Given the description of an element on the screen output the (x, y) to click on. 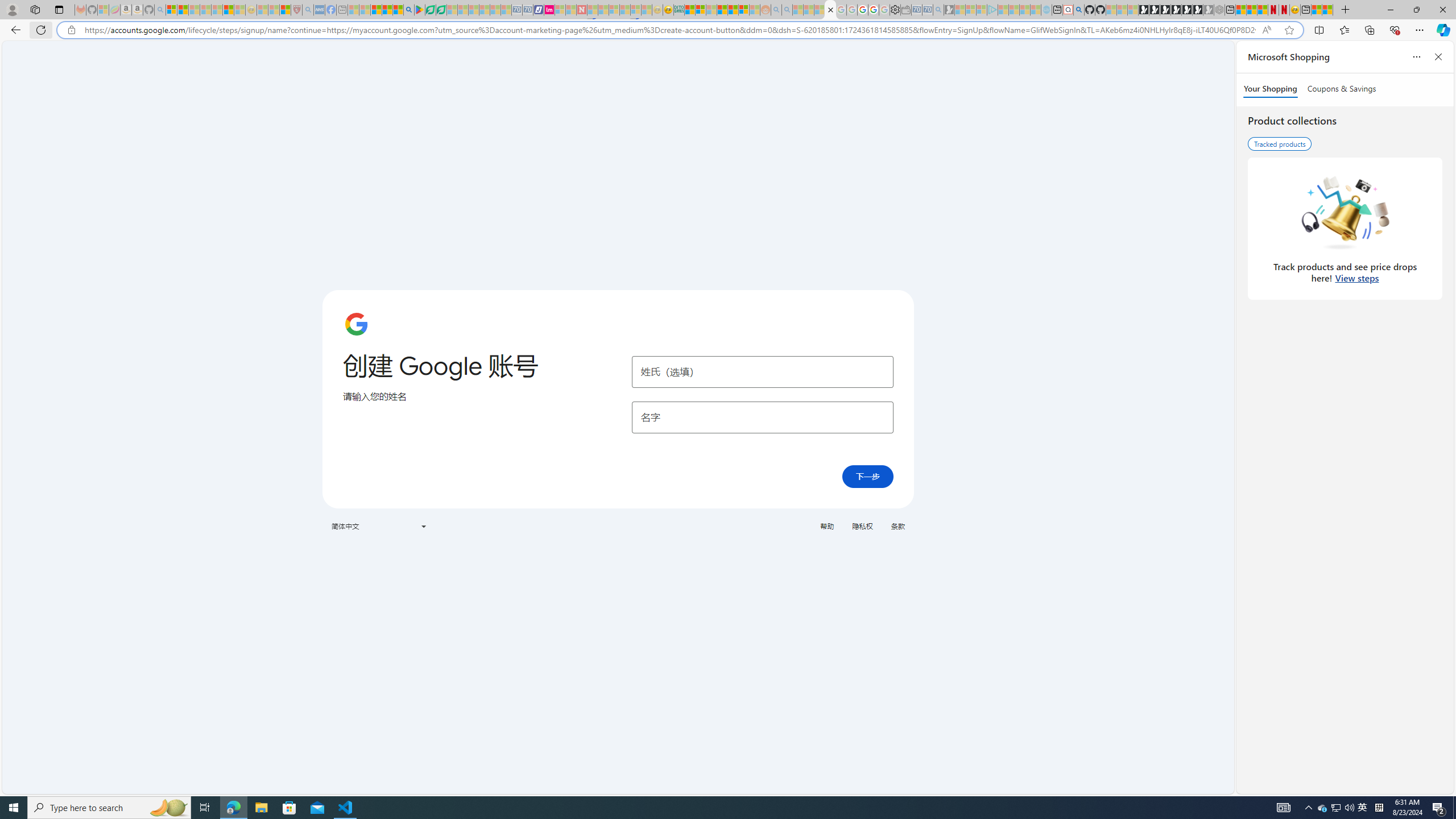
Utah sues federal government - Search - Sleeping (787, 9)
Recipes - MSN - Sleeping (262, 9)
Microsoft Start Gaming - Sleeping (949, 9)
Expert Portfolios (721, 9)
